Given the description of an element on the screen output the (x, y) to click on. 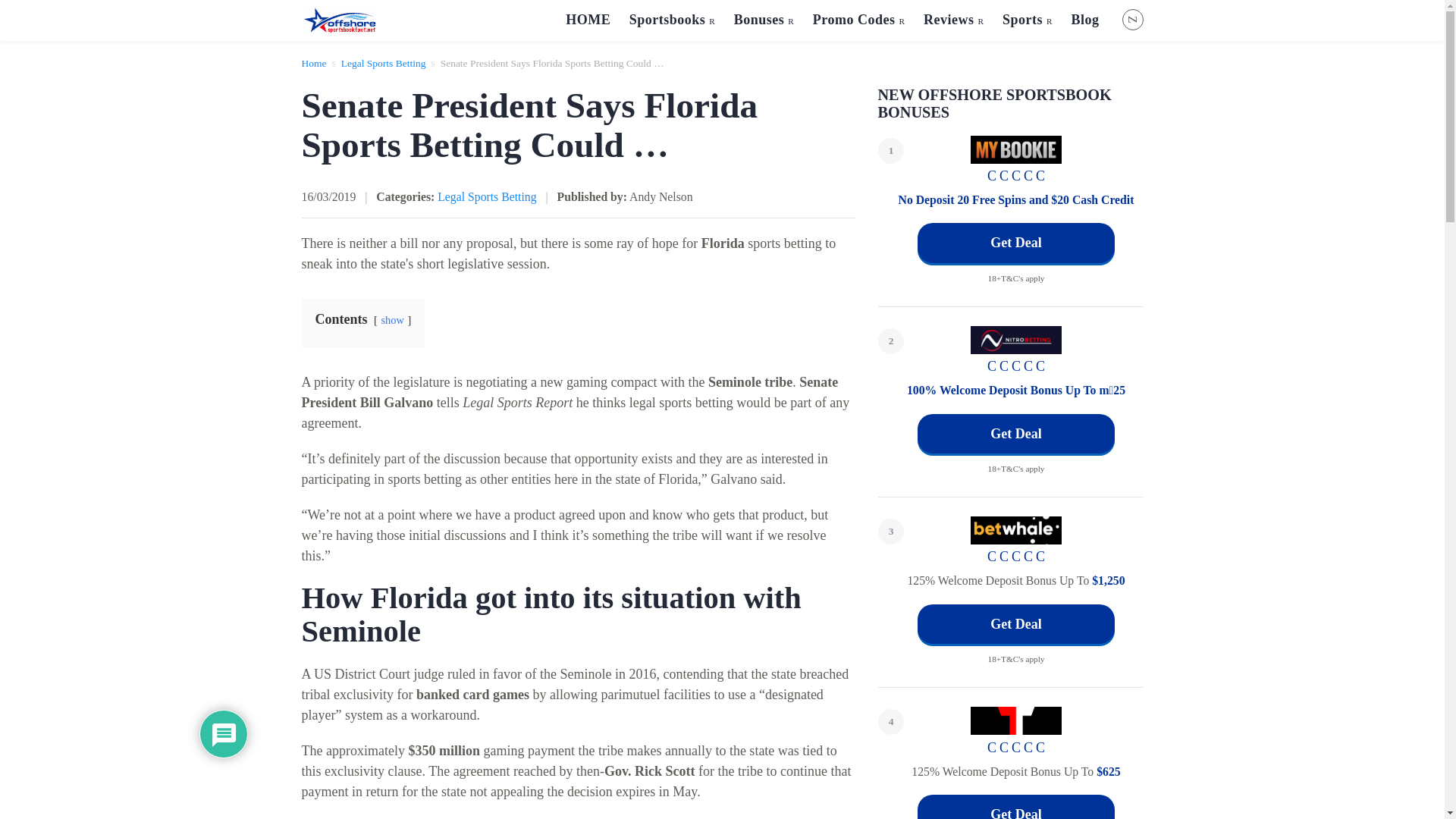
Home (313, 62)
Legal Sports Betting (383, 62)
